Given the description of an element on the screen output the (x, y) to click on. 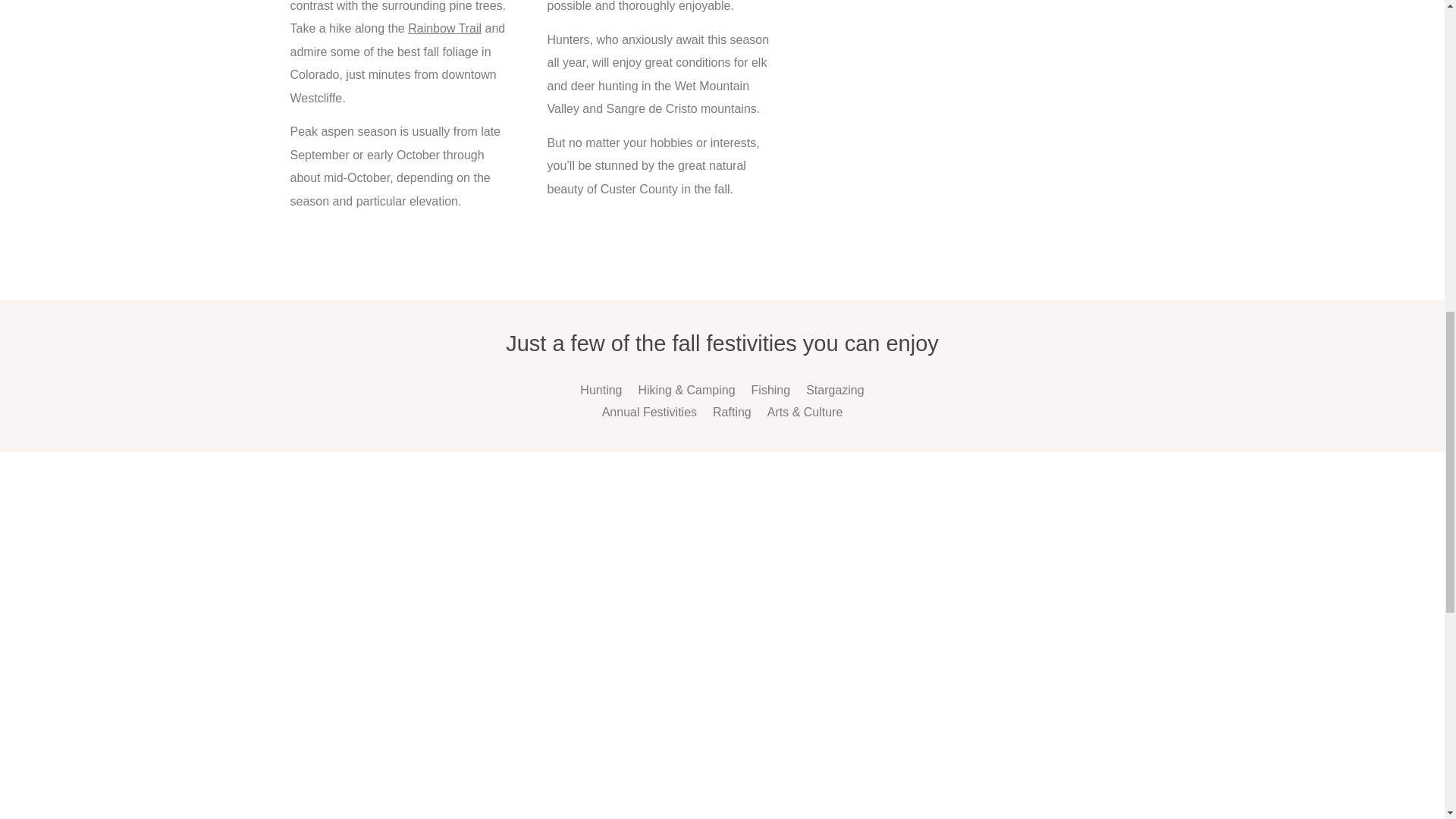
Rafting (732, 412)
Annual Festivities (649, 412)
Fishing (770, 390)
Hunting (600, 390)
Stargazing (835, 390)
